Given the description of an element on the screen output the (x, y) to click on. 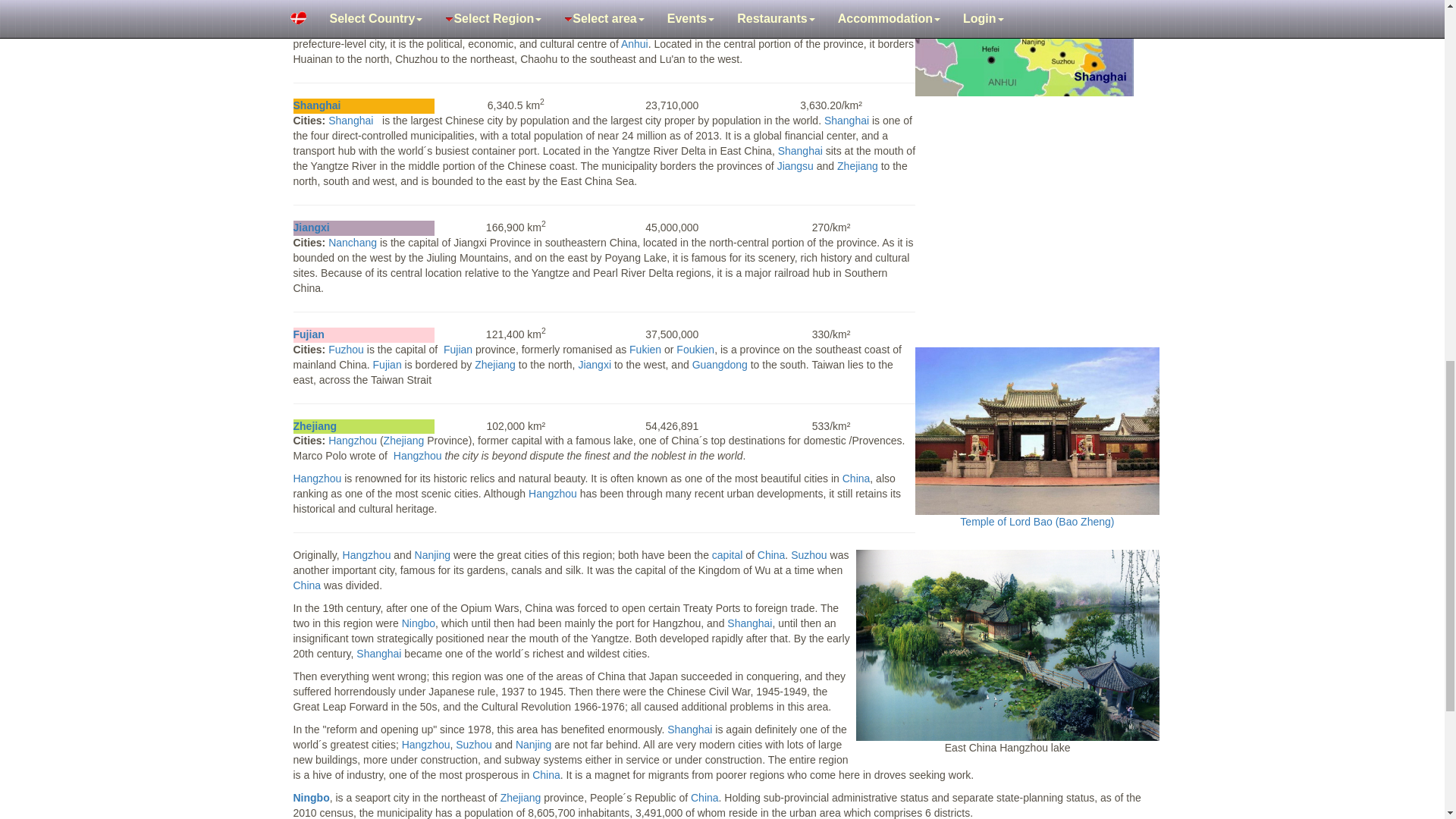
Shanghai (310, 227)
Nanjing (431, 554)
Shanghai (316, 105)
Anhui (307, 13)
Shanghai (846, 120)
Suzhou (808, 554)
Shanghai (307, 334)
Zhejiang (314, 426)
Fuzhou (346, 349)
Shanghai (350, 120)
